Given the description of an element on the screen output the (x, y) to click on. 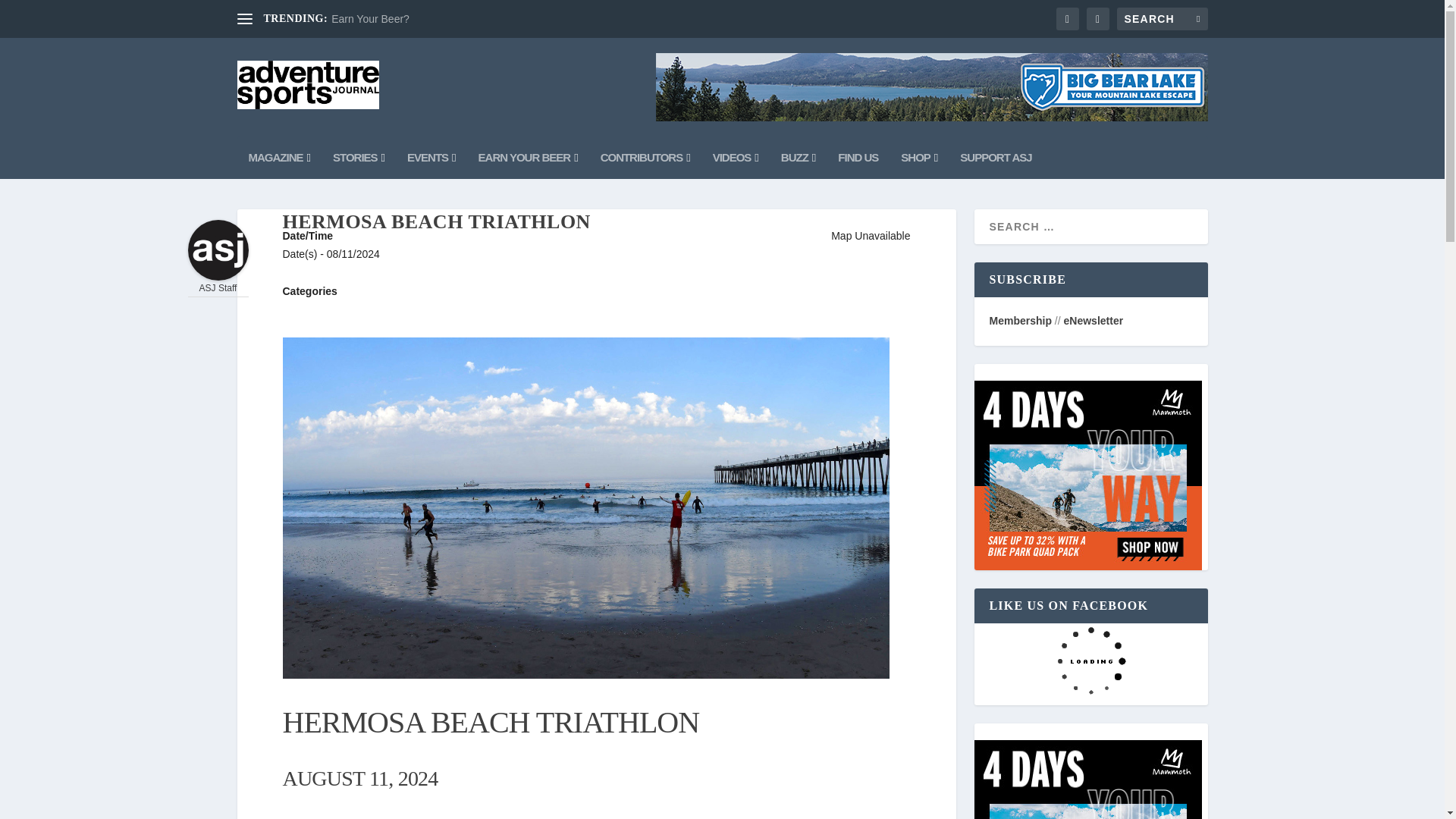
MAGAZINE (279, 157)
Search for: (1161, 18)
CONTRIBUTORS (644, 157)
ASJ Staff (217, 276)
Earn Your Beer? (370, 19)
EVENTS (431, 157)
EARN YOUR BEER (528, 157)
STORIES (358, 157)
